Given the description of an element on the screen output the (x, y) to click on. 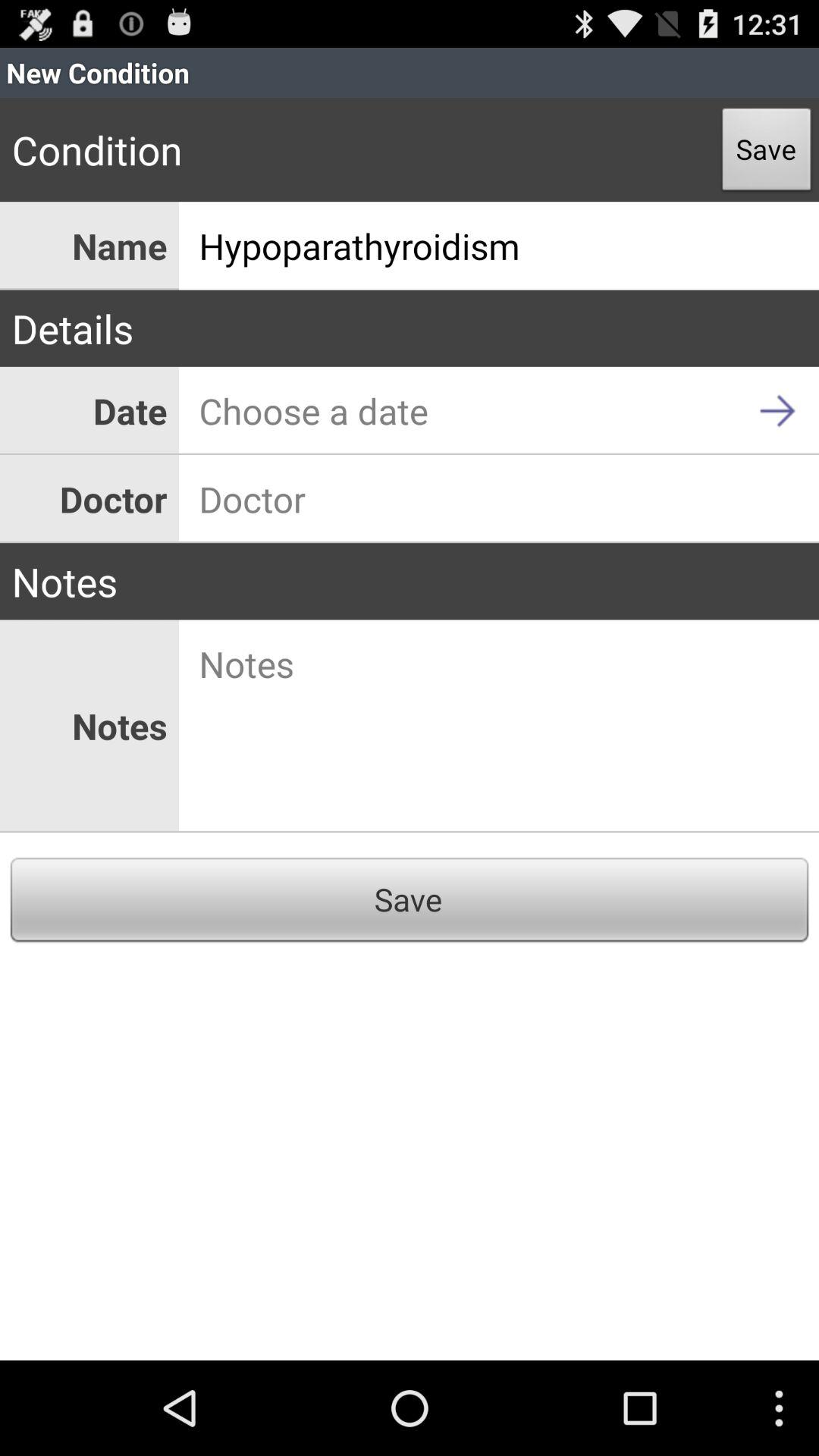
doctor name entry box (499, 499)
